Given the description of an element on the screen output the (x, y) to click on. 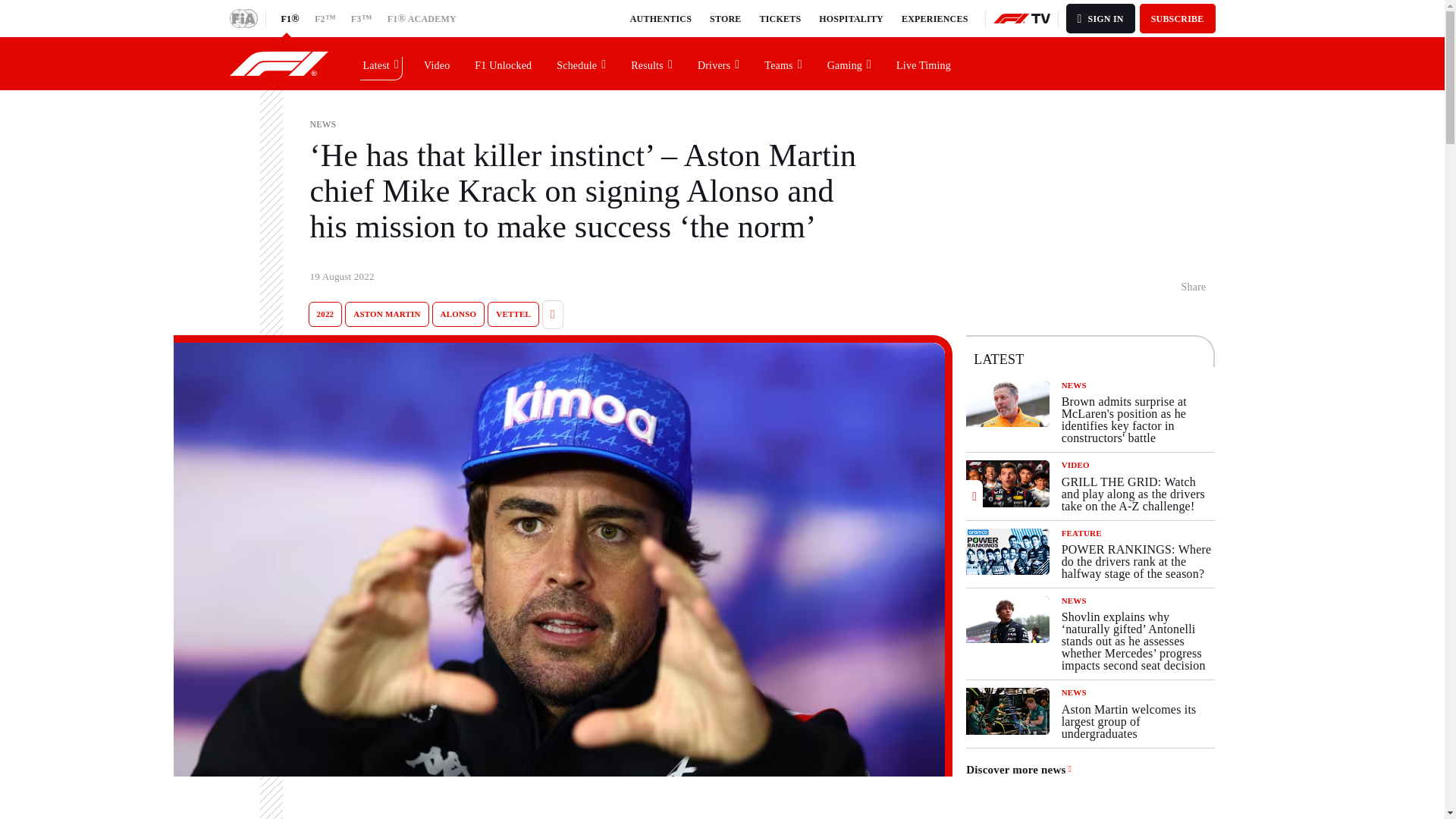
Schedule (581, 63)
Gaming (849, 63)
SUBSCRIBE (1177, 18)
SIGN IN (1100, 18)
Results (651, 63)
ASTON MARTIN (386, 314)
Drivers (718, 63)
